Given the description of an element on the screen output the (x, y) to click on. 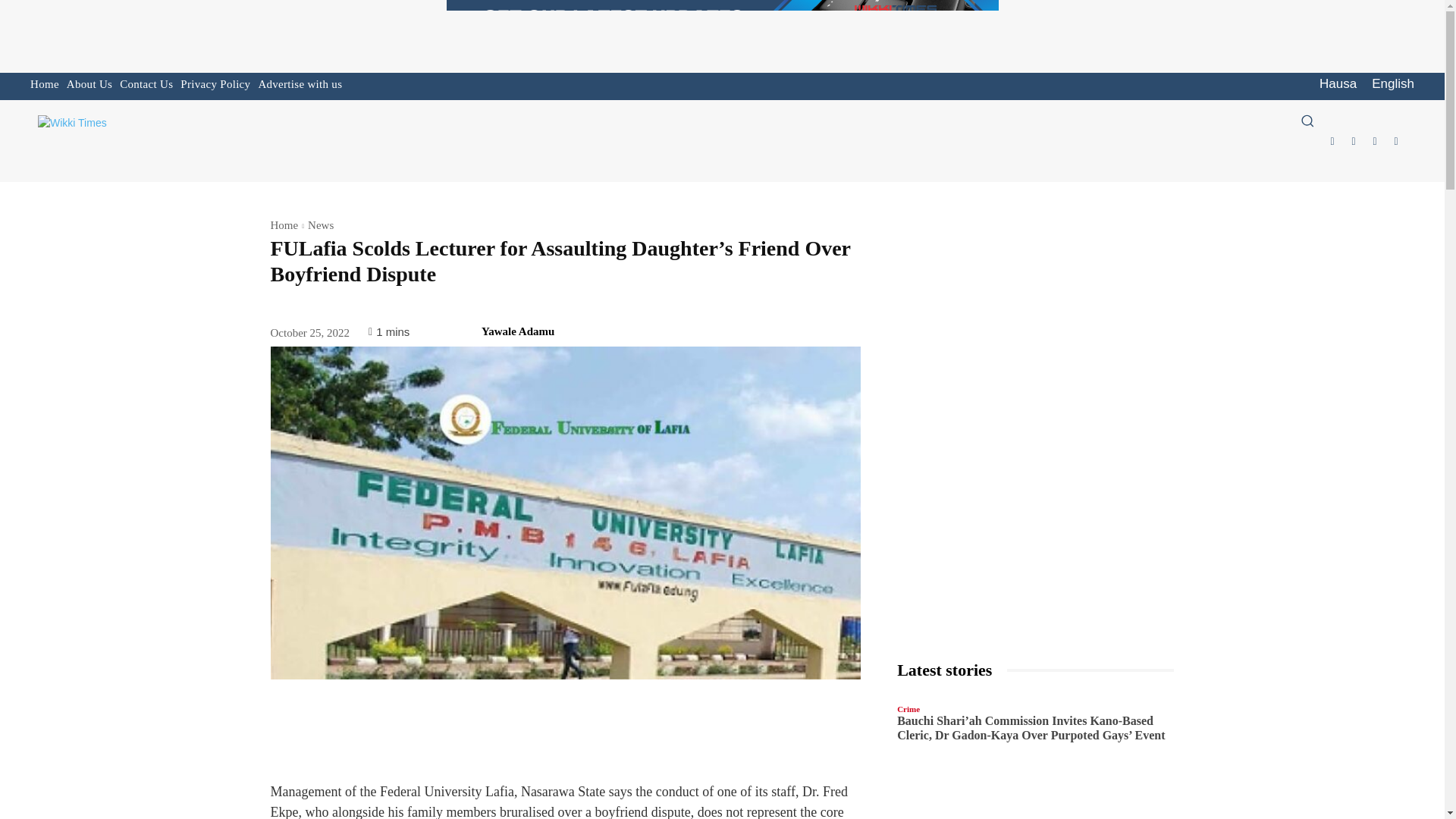
About Us (89, 83)
Contact Us (146, 83)
Youtube (1396, 140)
Home (44, 83)
Advertise with us (299, 83)
Instagram (1353, 140)
English (1392, 83)
View all posts in News (320, 224)
Hausa (1337, 83)
